Given the description of an element on the screen output the (x, y) to click on. 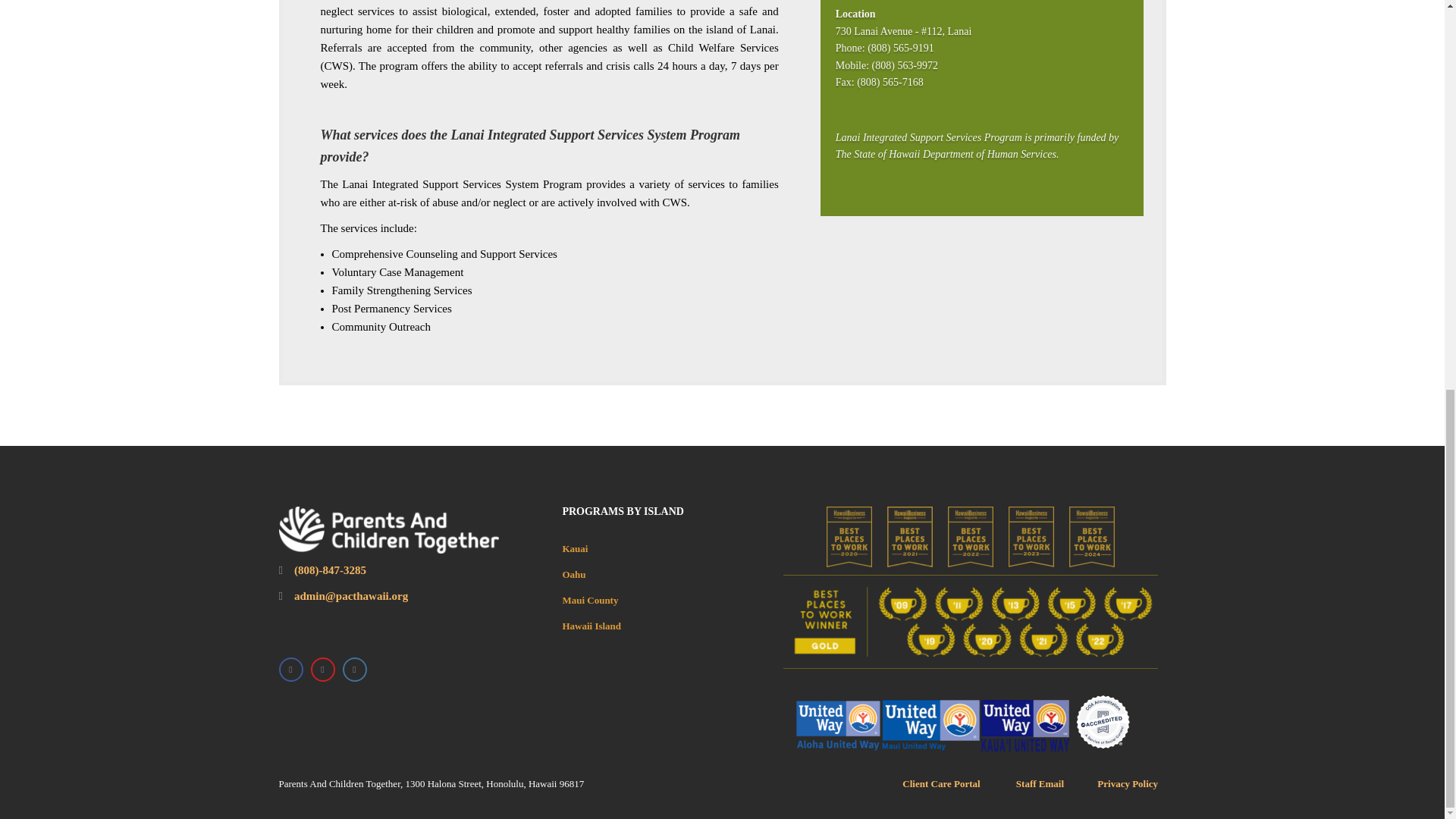
KUW (1024, 725)
COA (1103, 721)
MUW (930, 725)
AUW (838, 725)
